Given the description of an element on the screen output the (x, y) to click on. 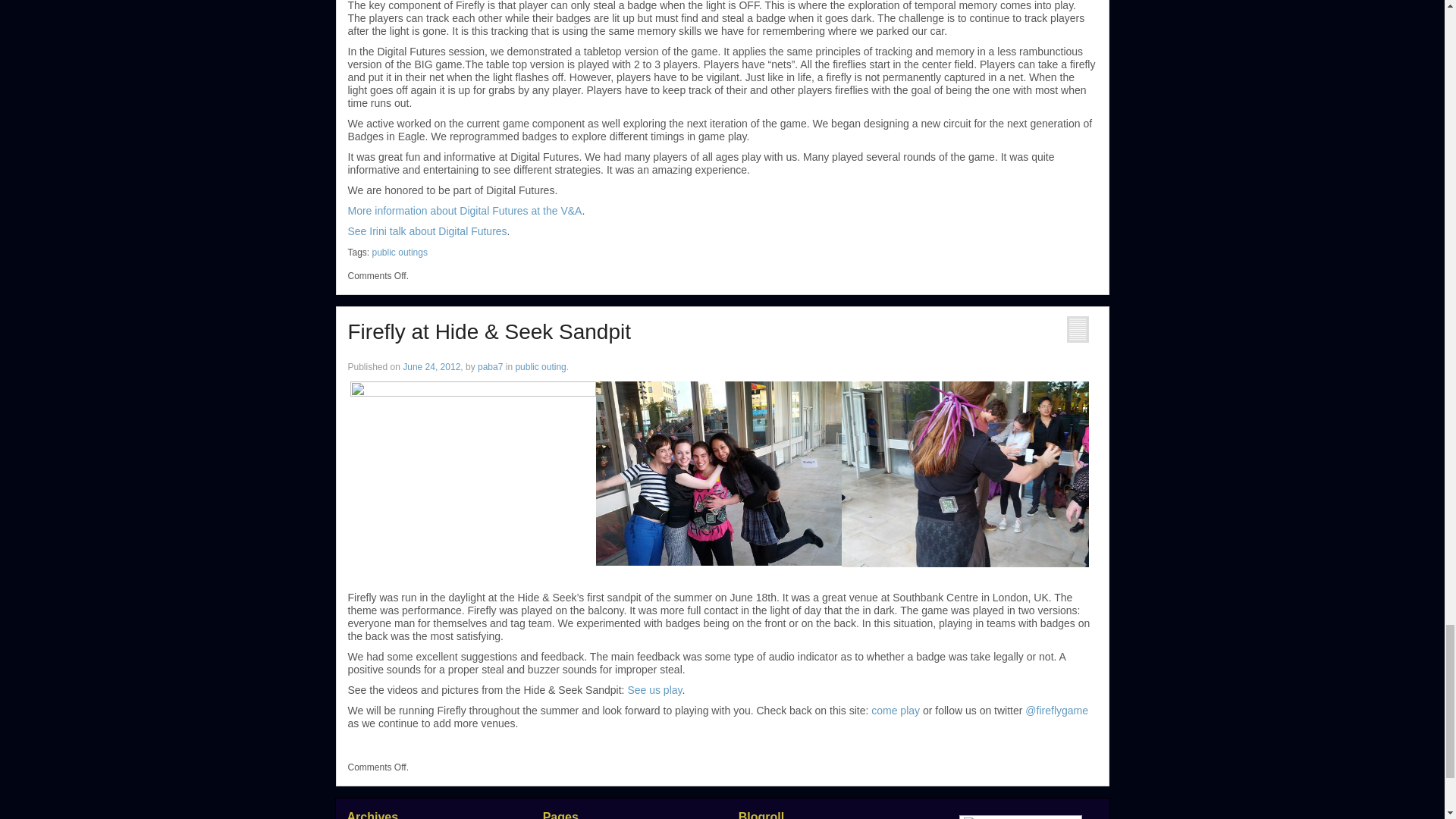
Posts by paba7 (489, 366)
View all posts in public outing (540, 366)
firefly (718, 473)
badge (965, 474)
